Given the description of an element on the screen output the (x, y) to click on. 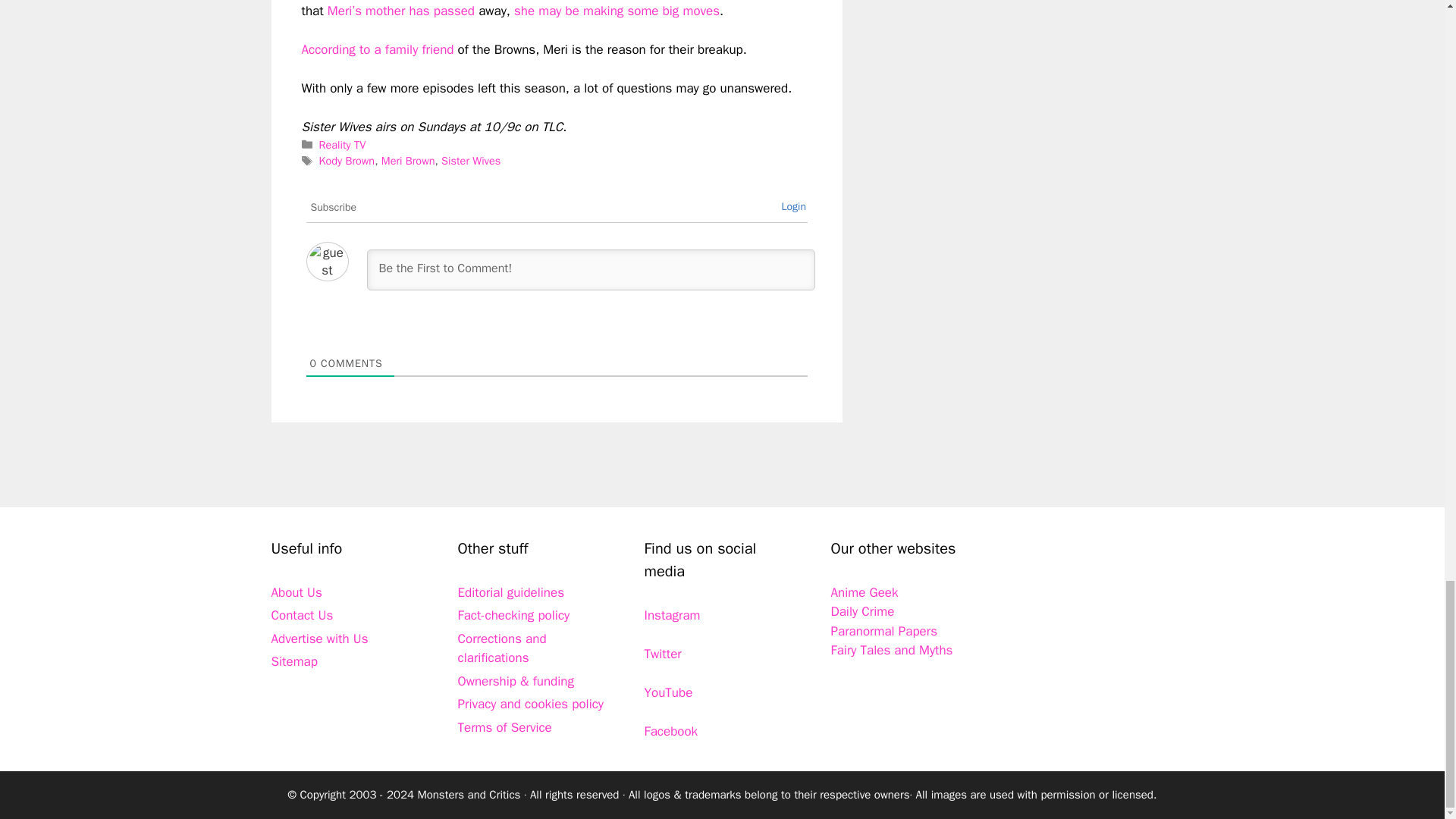
Contact Us (301, 615)
Login (793, 205)
Editorial guidelines (511, 592)
Sister Wives (470, 160)
Advertise with Us (319, 638)
she may be making some big moves (616, 10)
Kody Brown (346, 160)
According to a family friend (377, 49)
About Us (295, 592)
Reality TV (342, 144)
